Given the description of an element on the screen output the (x, y) to click on. 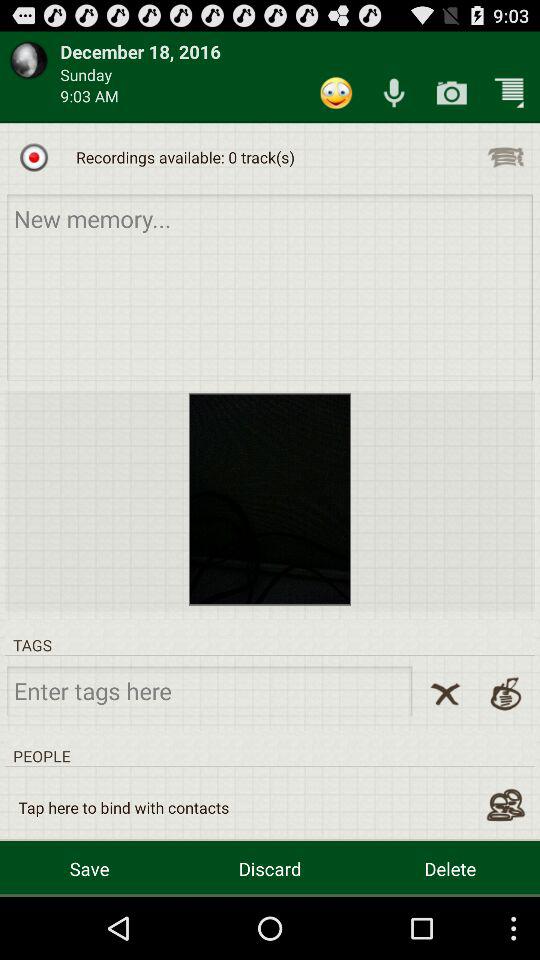
click the icon above recordings available 0 (336, 92)
